Given the description of an element on the screen output the (x, y) to click on. 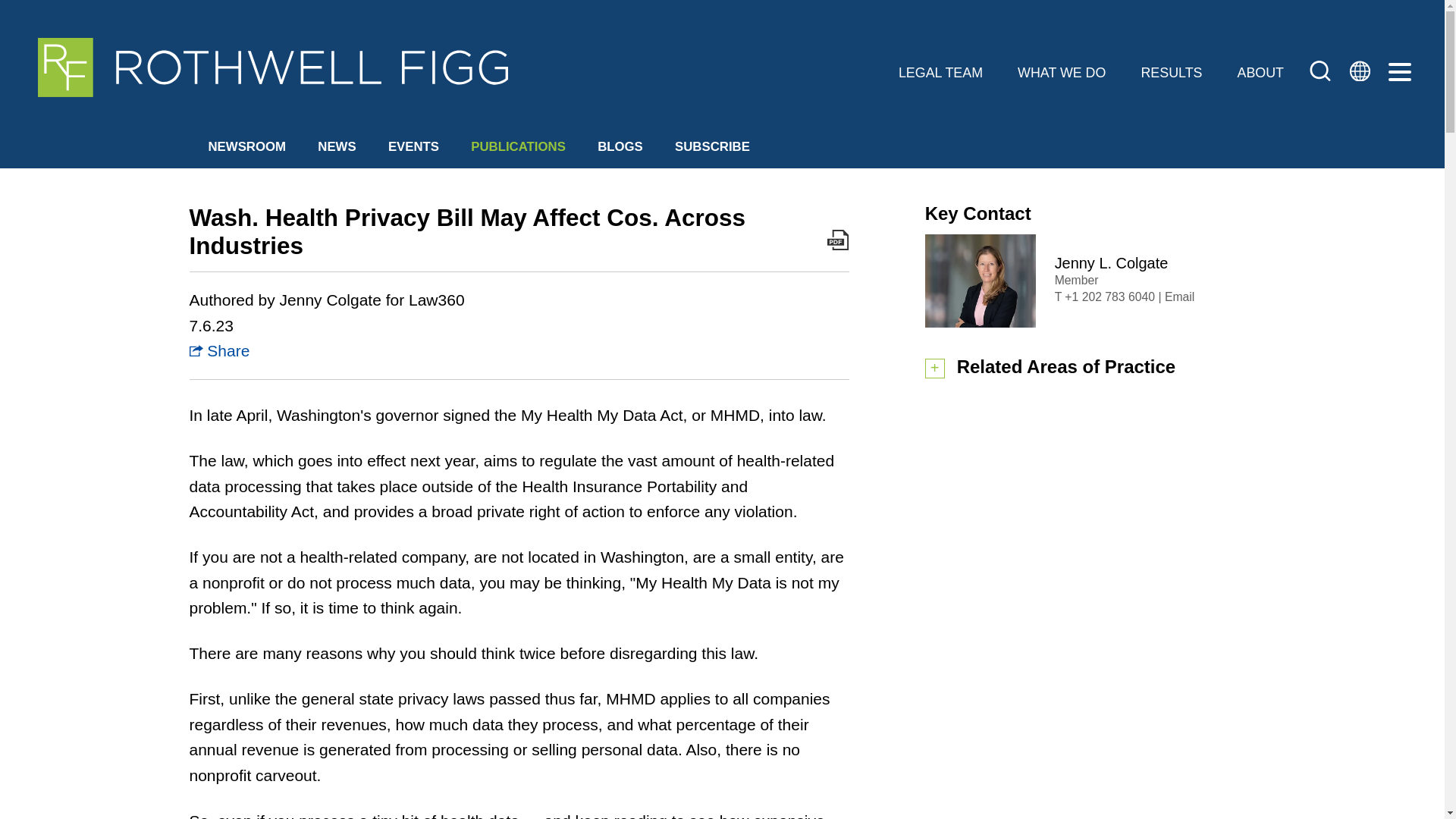
SEARCH (1320, 72)
ABOUT (1260, 72)
WHAT WE DO (1061, 72)
SEARCH (1320, 70)
Main Content (663, 20)
Print PDF Icon (837, 240)
LEGAL TEAM (940, 72)
RESULTS (1171, 72)
Cookie Settings (655, 20)
Share (219, 350)
